Given the description of an element on the screen output the (x, y) to click on. 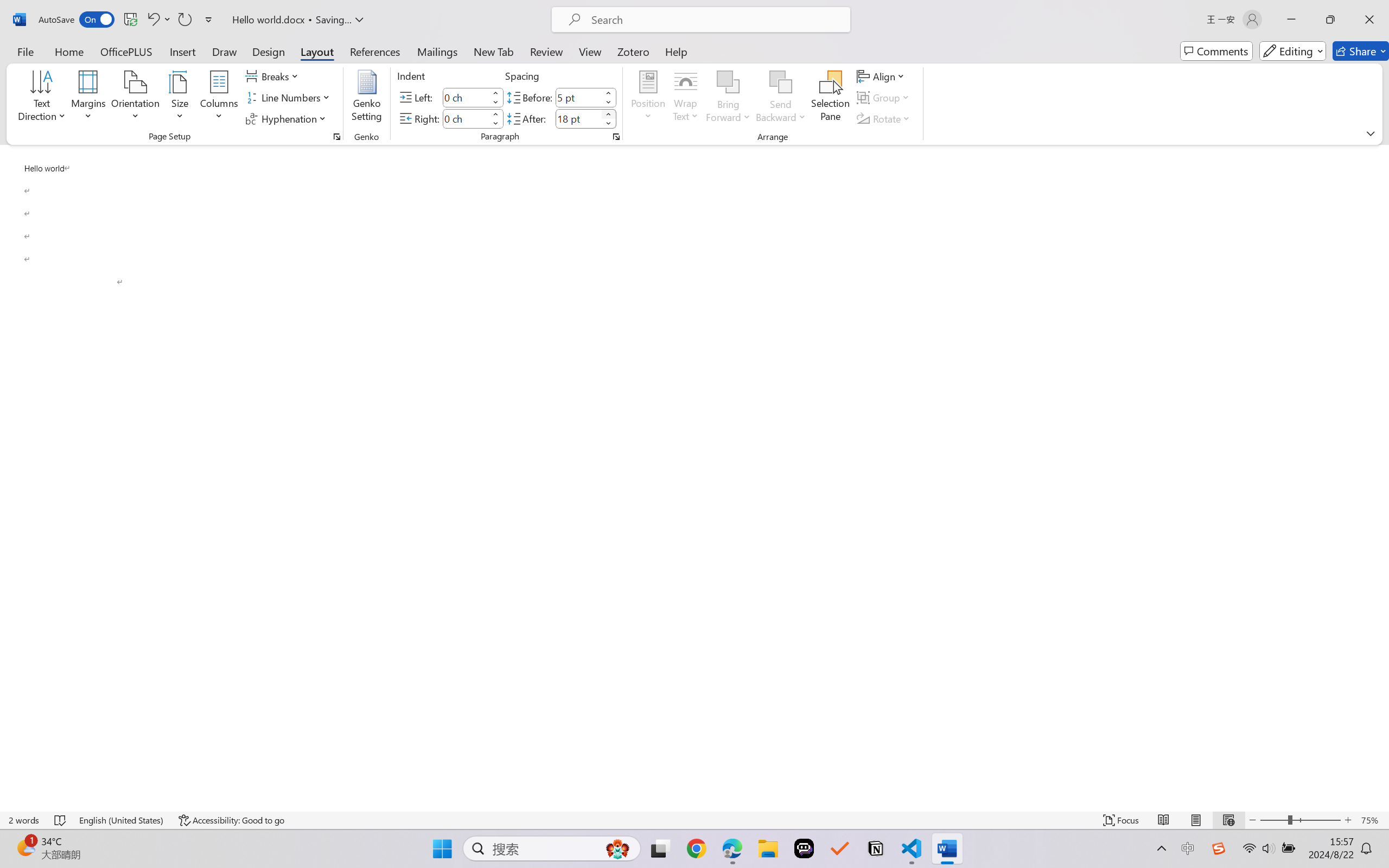
Class: NetUIScrollBar (1382, 477)
Genko Setting... (367, 97)
Microsoft search (715, 19)
Paragraph... (615, 136)
File Tab (24, 51)
Zoom 75% (1372, 819)
Bring Forward (728, 81)
Layout (316, 51)
Language English (United States) (121, 819)
Hyphenation (287, 118)
AutoSave (76, 19)
Editing (1292, 50)
Breaks (273, 75)
